Given the description of an element on the screen output the (x, y) to click on. 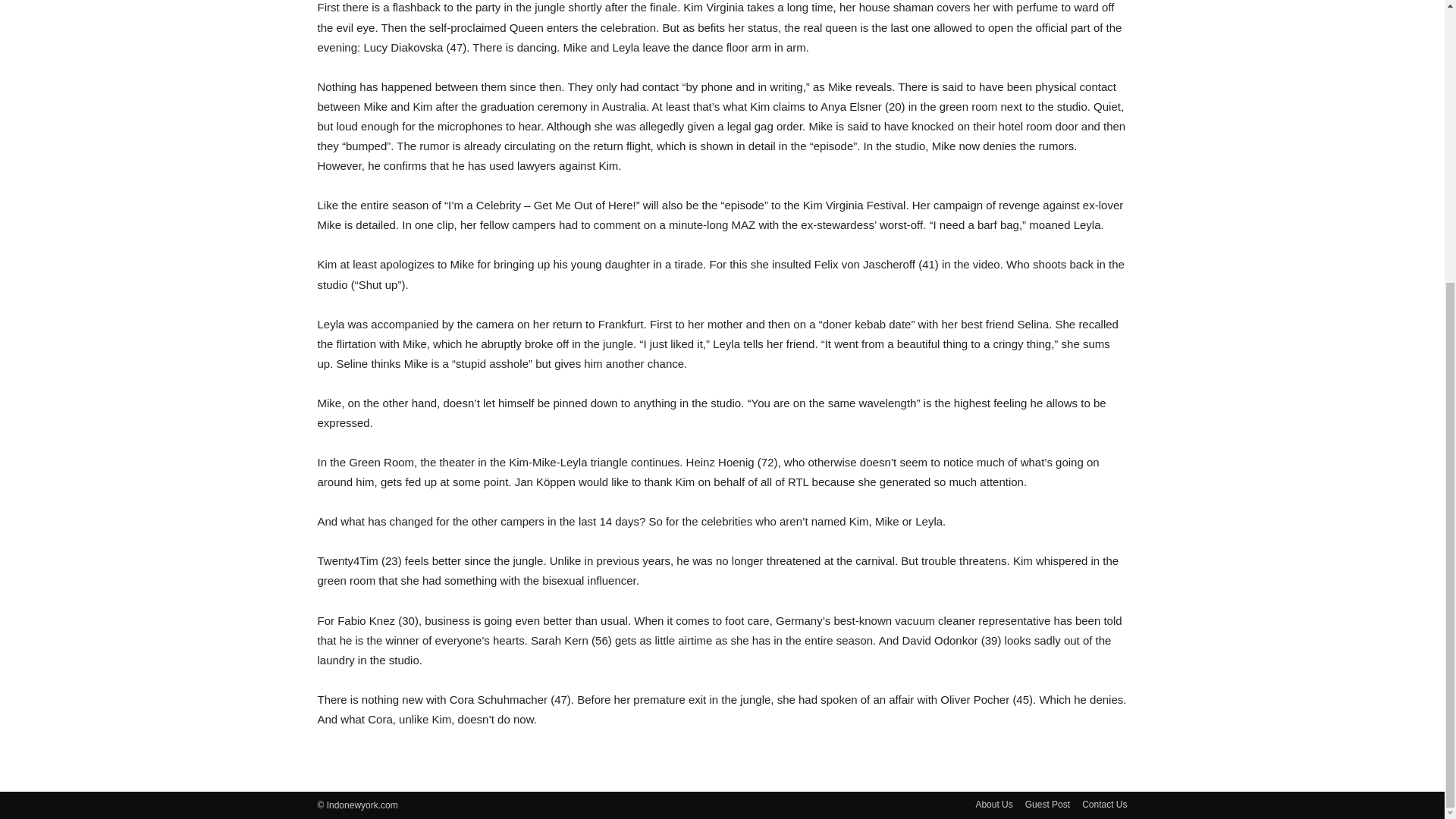
About Us (993, 804)
Contact Us (1103, 804)
Guest Post (1047, 804)
